Given the description of an element on the screen output the (x, y) to click on. 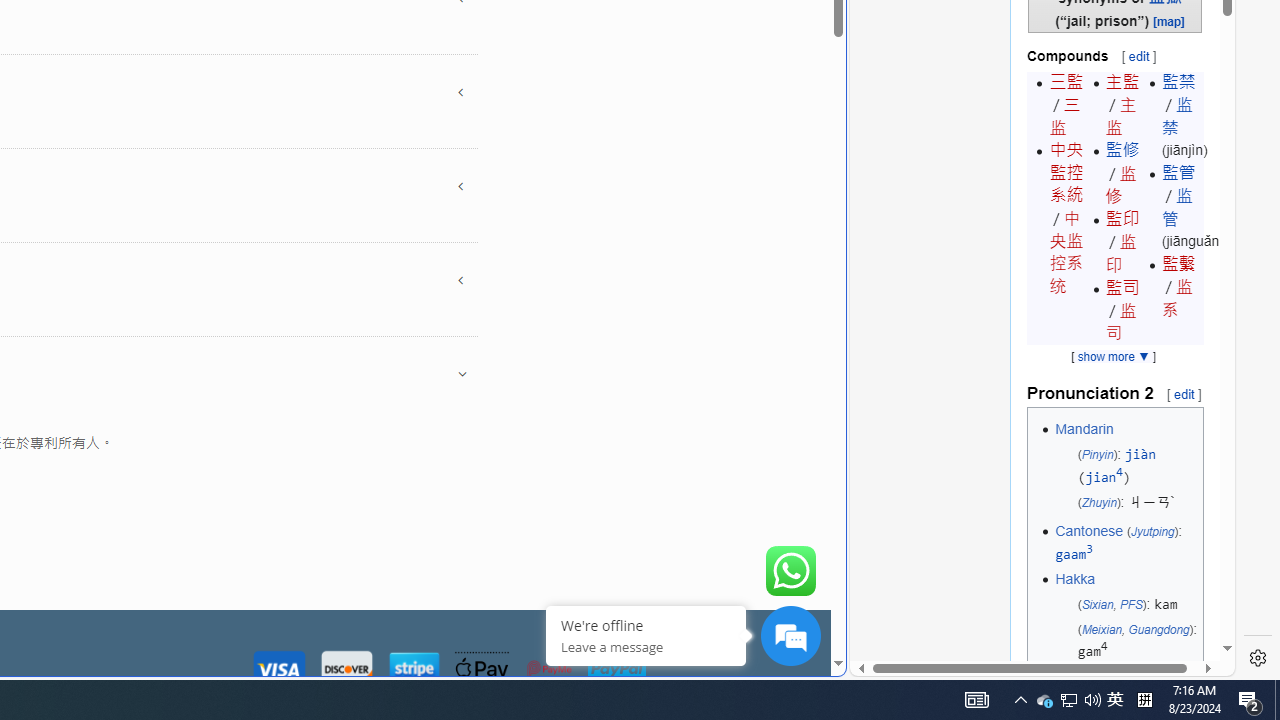
Meixian (1101, 628)
Hakka (1074, 578)
Cantonese (Jyutping): gaam3 (1126, 543)
gaam3 (1073, 554)
edit (1183, 393)
